Given the description of an element on the screen output the (x, y) to click on. 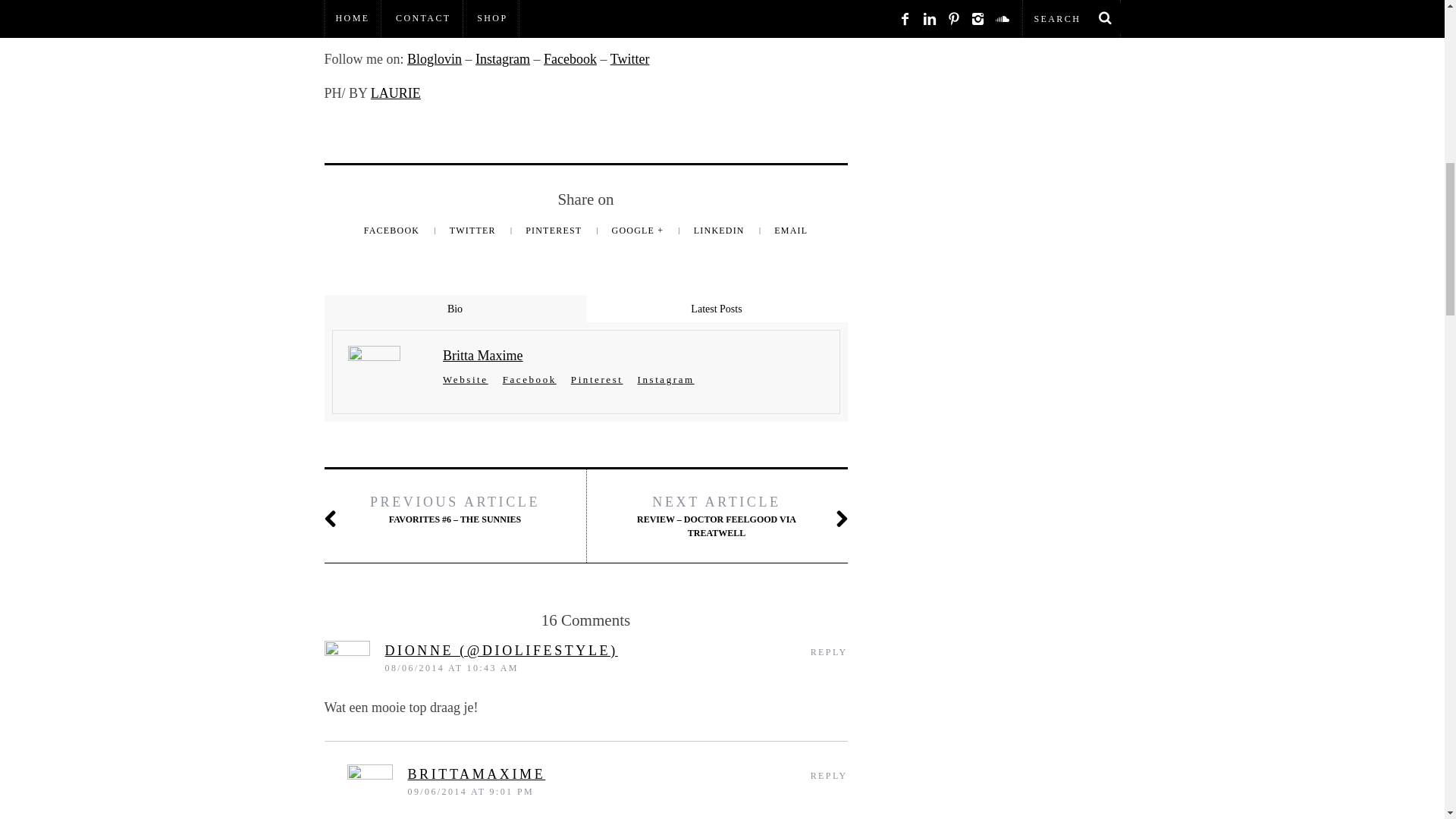
Twitter (629, 58)
Bio (455, 308)
EMAIL (791, 230)
LAURIE (395, 92)
Website (464, 378)
TWITTER (474, 230)
LINKEDIN (721, 230)
Facebook (569, 58)
Instagram (502, 58)
LAURIE (395, 92)
Instagram (502, 58)
Facebook (569, 58)
PINTEREST (555, 230)
Bloglovin' (434, 58)
Twitter (629, 58)
